Given the description of an element on the screen output the (x, y) to click on. 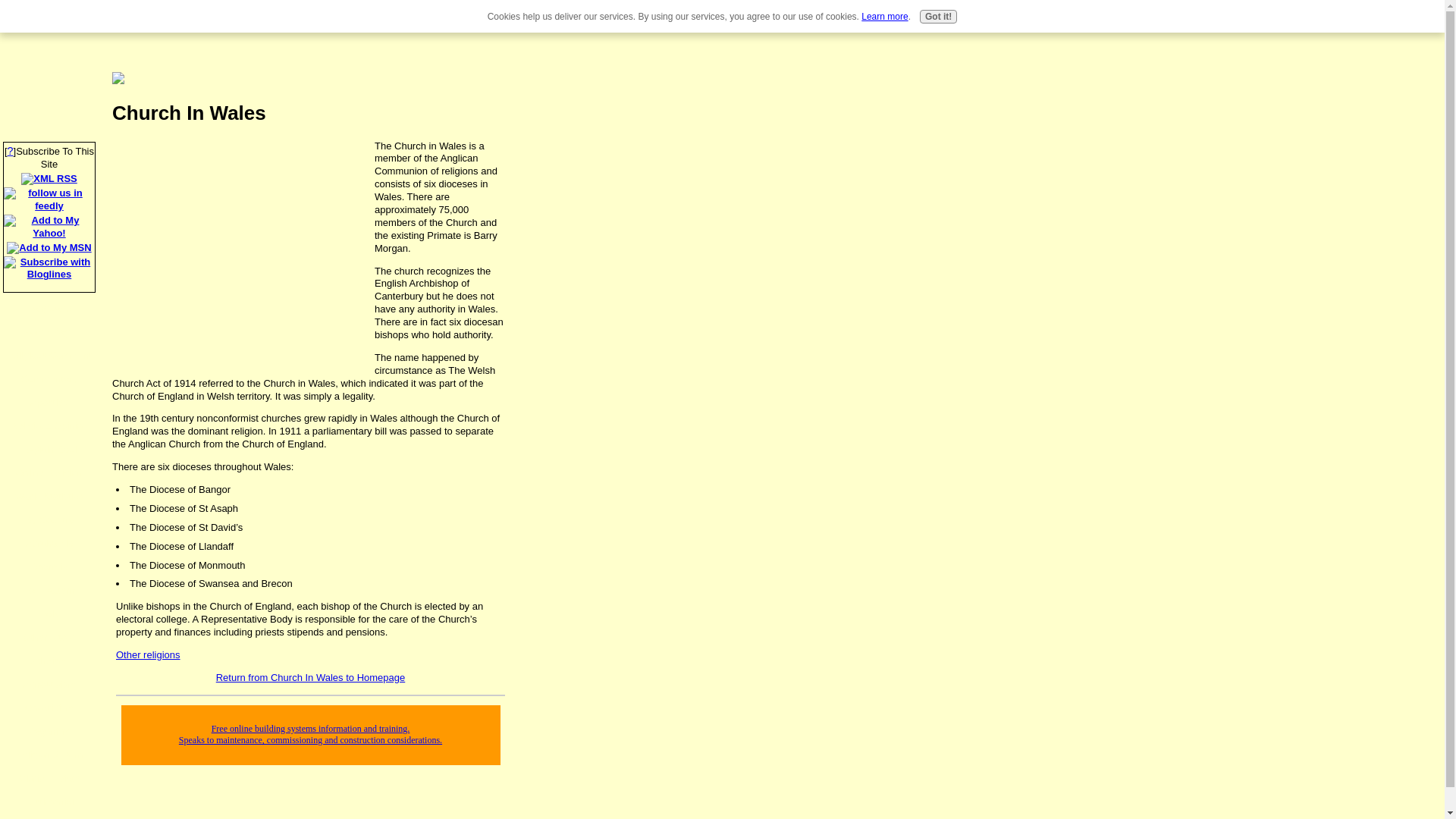
Testimonial (49, 802)
Got it! (938, 16)
Learn more (884, 16)
Folk (49, 615)
Dharmic (49, 567)
Language (49, 309)
Other A to Z (49, 638)
Explain Soul (49, 450)
Apostles (49, 403)
